Given the description of an element on the screen output the (x, y) to click on. 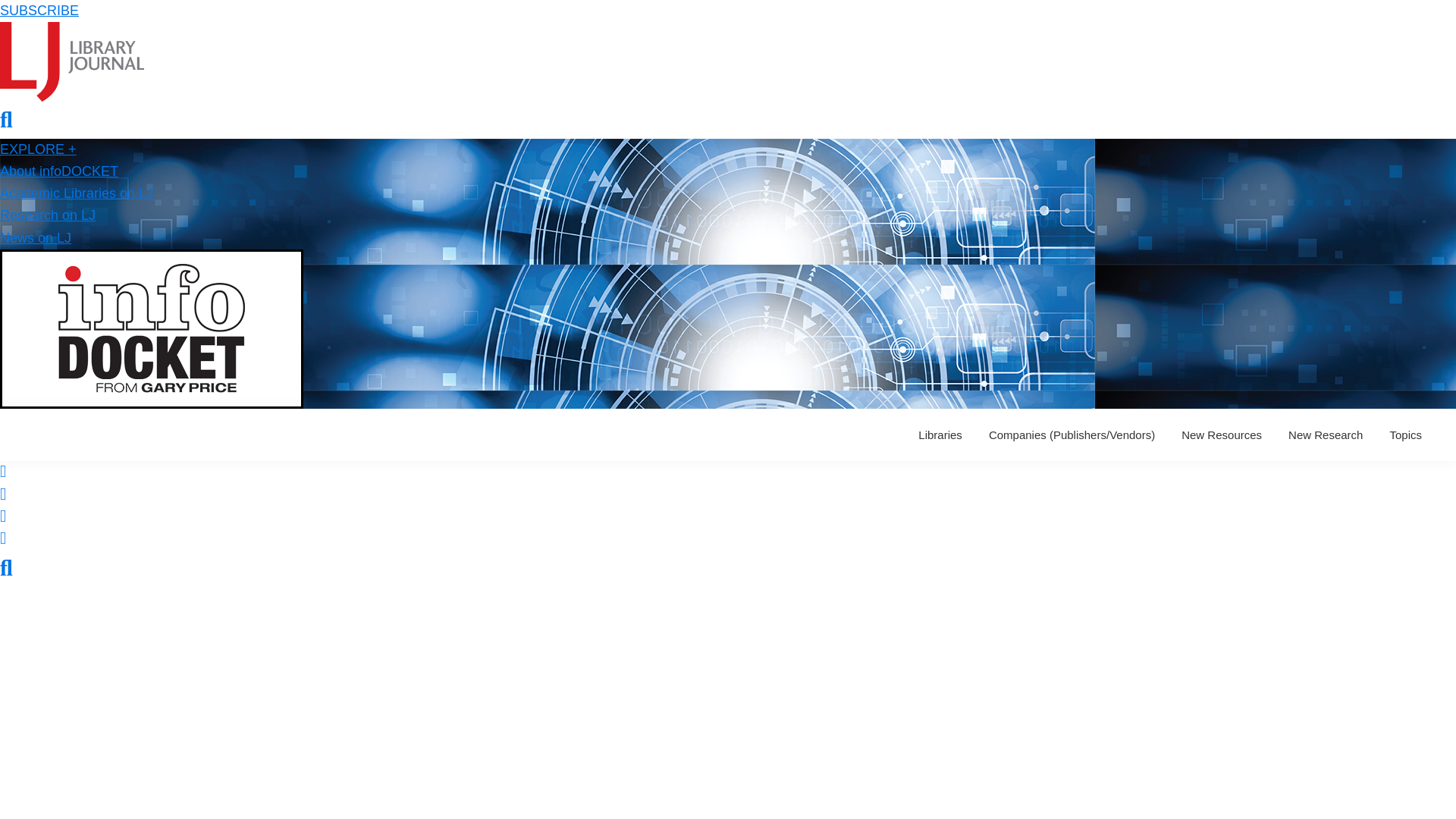
About infoDOCKET (58, 171)
New Resources (1221, 434)
SUBSCRIBE (39, 10)
Research on LJ (48, 215)
New Research (1325, 434)
Academic Libraries on LJ (76, 192)
News on LJ (35, 237)
Libraries (940, 434)
